Given the description of an element on the screen output the (x, y) to click on. 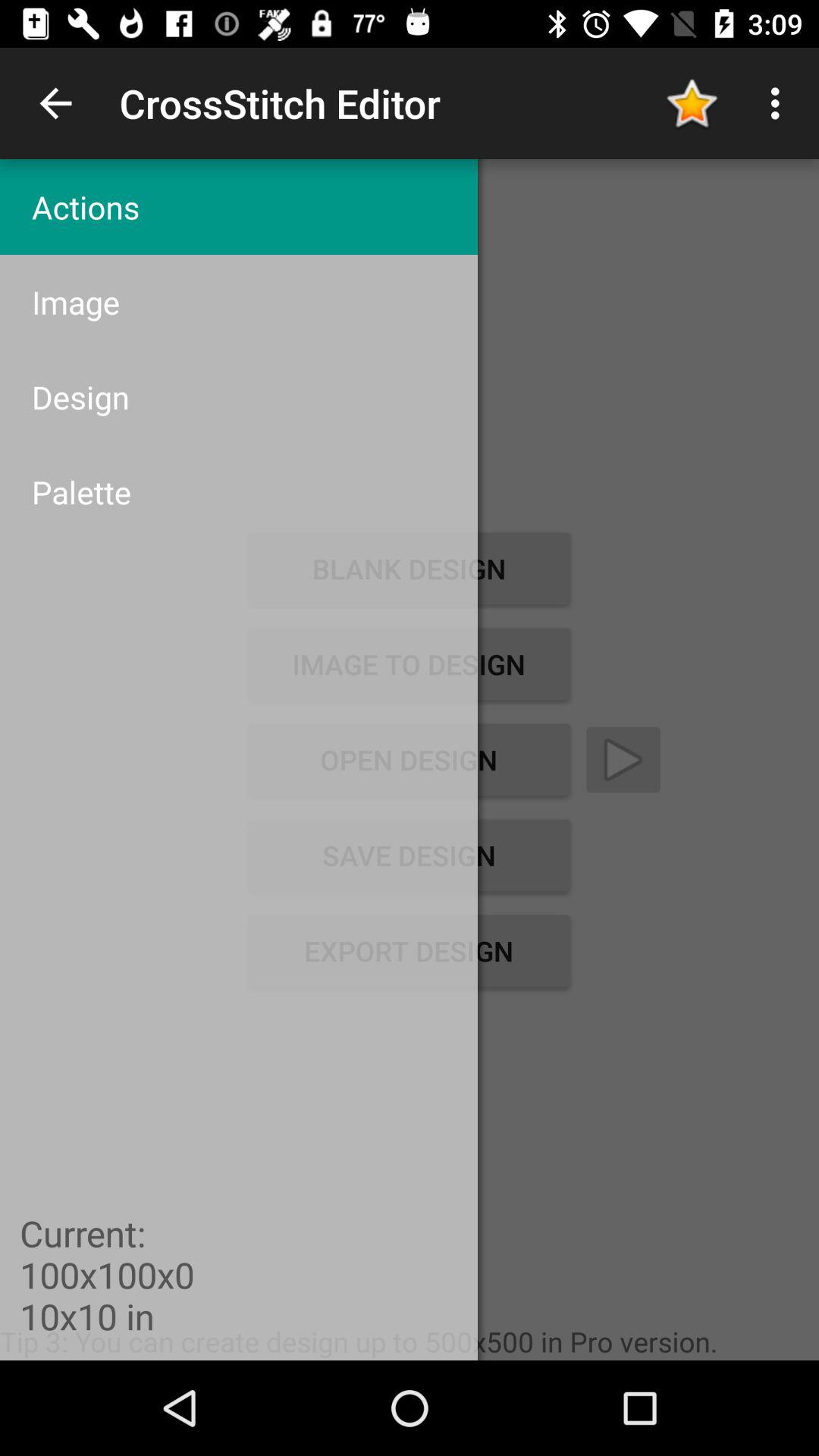
select the save design icon (409, 855)
